Given the description of an element on the screen output the (x, y) to click on. 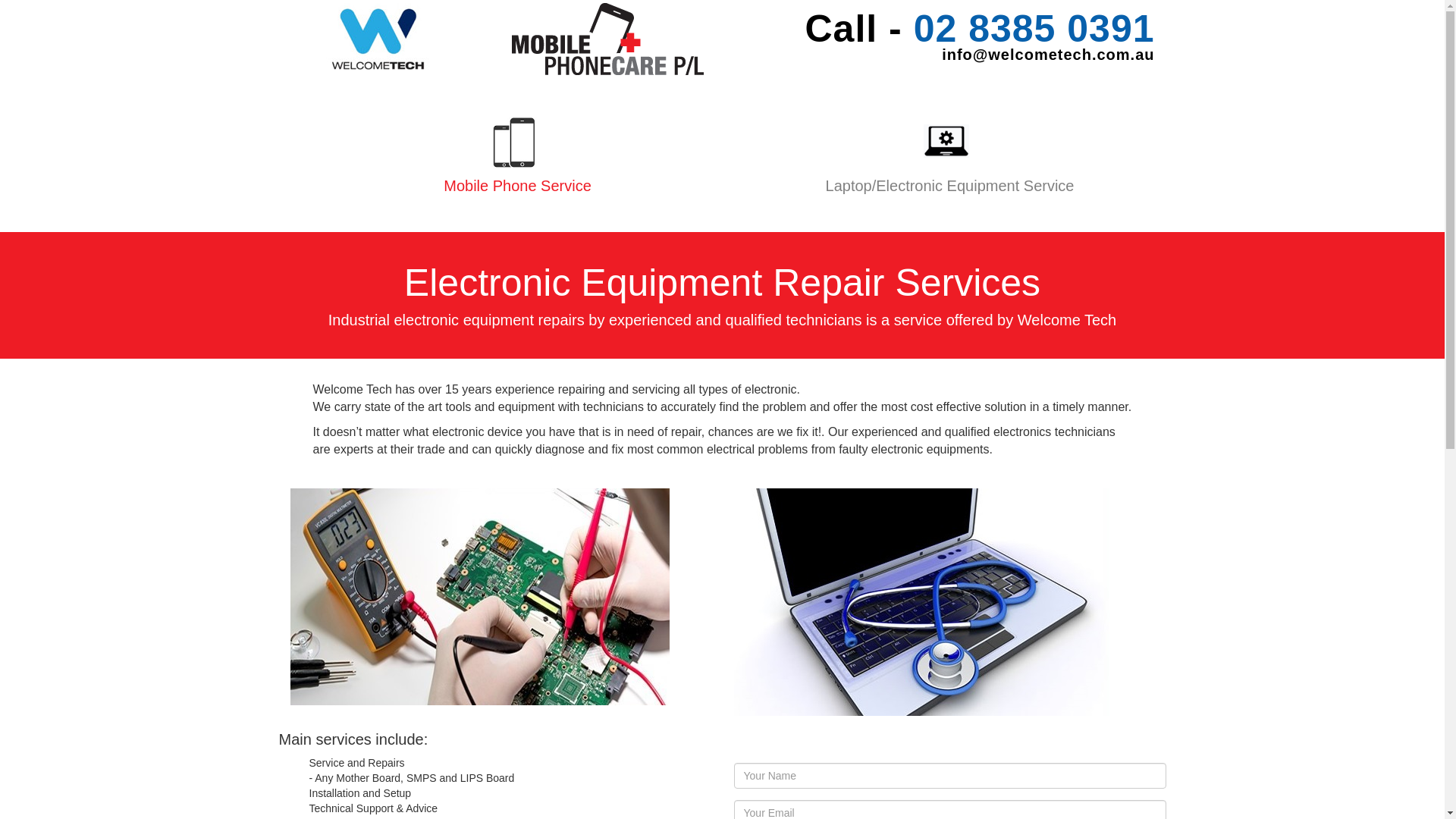
Mobile Phone Service Element type: text (516, 173)
info@welcometech.com.au Element type: text (944, 54)
Laptop/Electronic Equipment Service Element type: text (949, 173)
